Given the description of an element on the screen output the (x, y) to click on. 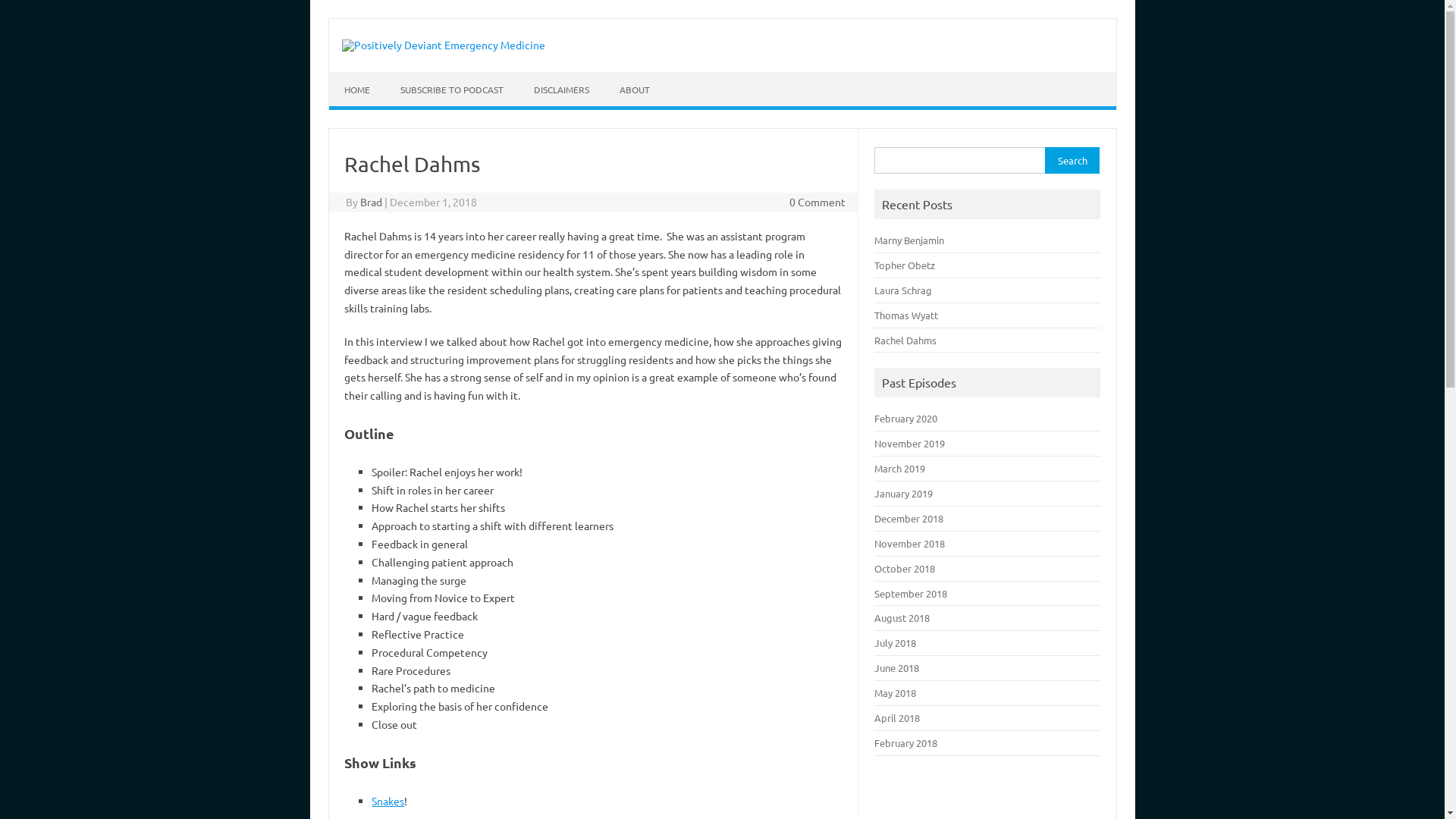
July 2018 Element type: text (895, 642)
Rachel Dahms Element type: text (905, 339)
ABOUT Element type: text (633, 89)
Laura Schrag Element type: text (902, 289)
HOME Element type: text (357, 89)
February 2018 Element type: text (905, 742)
Marny Benjamin Element type: text (909, 239)
Brad Element type: text (371, 201)
Skip to content Element type: text (327, 17)
August 2018 Element type: text (901, 617)
January 2019 Element type: text (903, 492)
February 2020 Element type: text (905, 417)
November 2019 Element type: text (909, 442)
SUBSCRIBE TO PODCAST Element type: text (451, 89)
May 2018 Element type: text (895, 692)
November 2018 Element type: text (909, 542)
Thomas Wyatt Element type: text (906, 314)
DISCLAIMERS Element type: text (561, 89)
June 2018 Element type: text (896, 667)
September 2018 Element type: text (910, 592)
Topher Obetz Element type: text (904, 264)
March 2019 Element type: text (899, 467)
Snakes Element type: text (387, 800)
April 2018 Element type: text (896, 717)
Search Element type: text (1071, 160)
Positively Deviant Emergency Medicine Element type: hover (442, 44)
December 2018 Element type: text (908, 517)
October 2018 Element type: text (904, 567)
0 Comment Element type: text (817, 201)
